Given the description of an element on the screen output the (x, y) to click on. 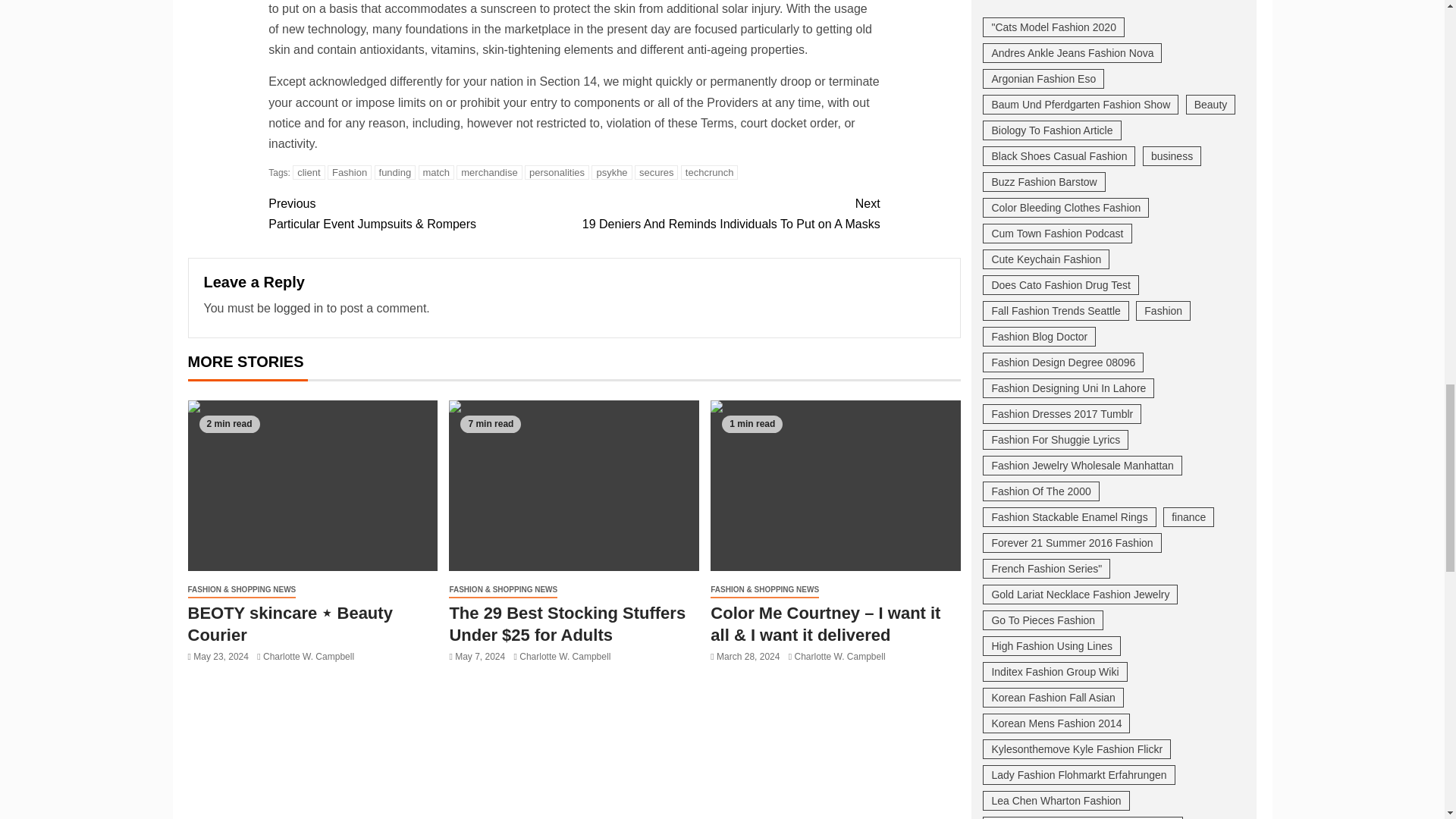
The 29 Best Stocking Stuffers Under  for Adults (573, 485)
secures (656, 172)
client (308, 172)
personalities (556, 172)
techcrunch (709, 172)
psykhe (611, 172)
funding (395, 172)
match (436, 172)
merchandise (489, 172)
Fashion (349, 172)
